Given the description of an element on the screen output the (x, y) to click on. 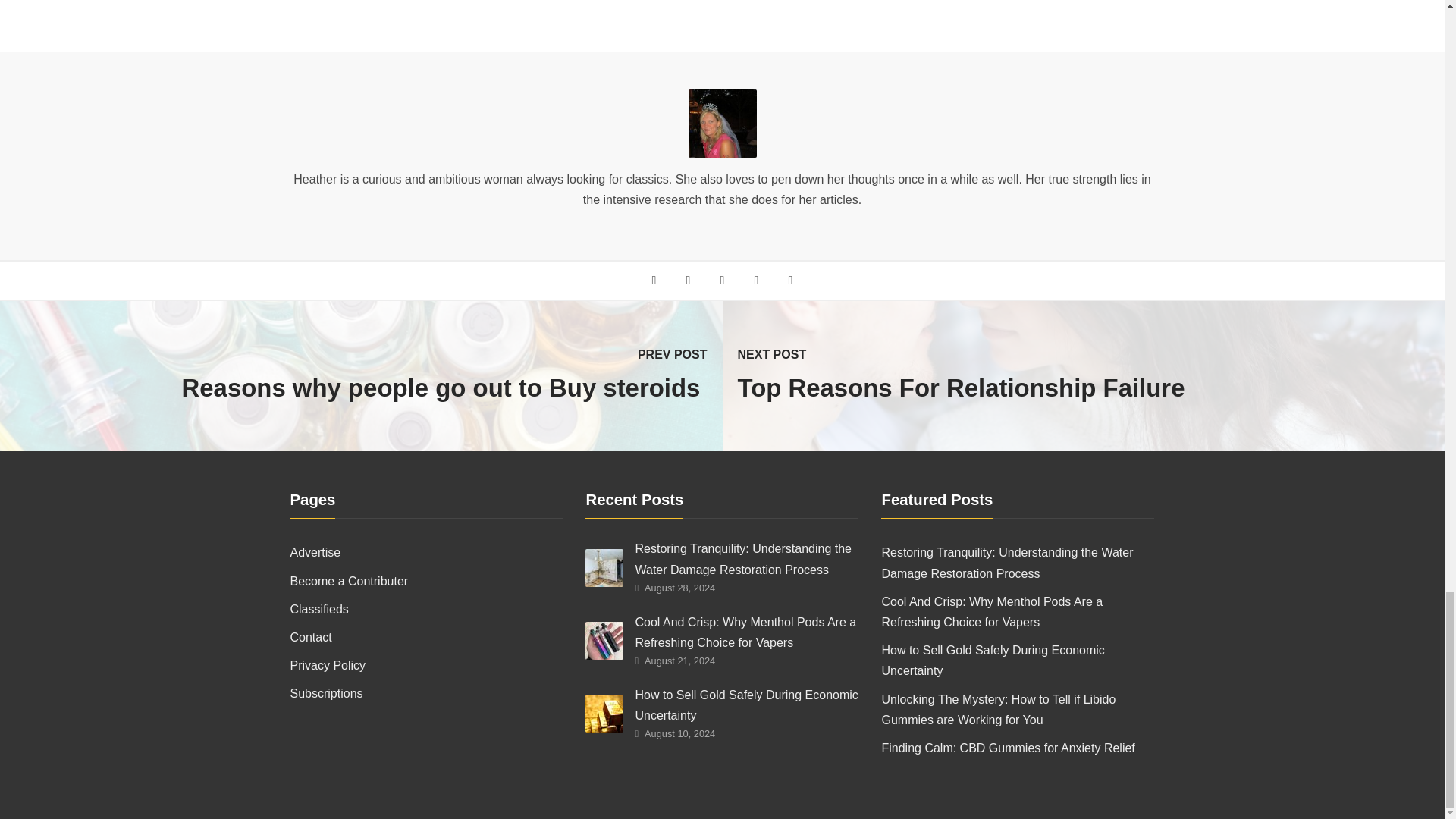
Share on Facebook (654, 279)
Share on Tumblr (790, 279)
Advertise (425, 552)
Share on Twitter (687, 279)
Top Reasons For Relationship Failure (1088, 388)
Share on LinkedIn (756, 279)
Reasons why people go out to Buy steroids  (355, 388)
